Given the description of an element on the screen output the (x, y) to click on. 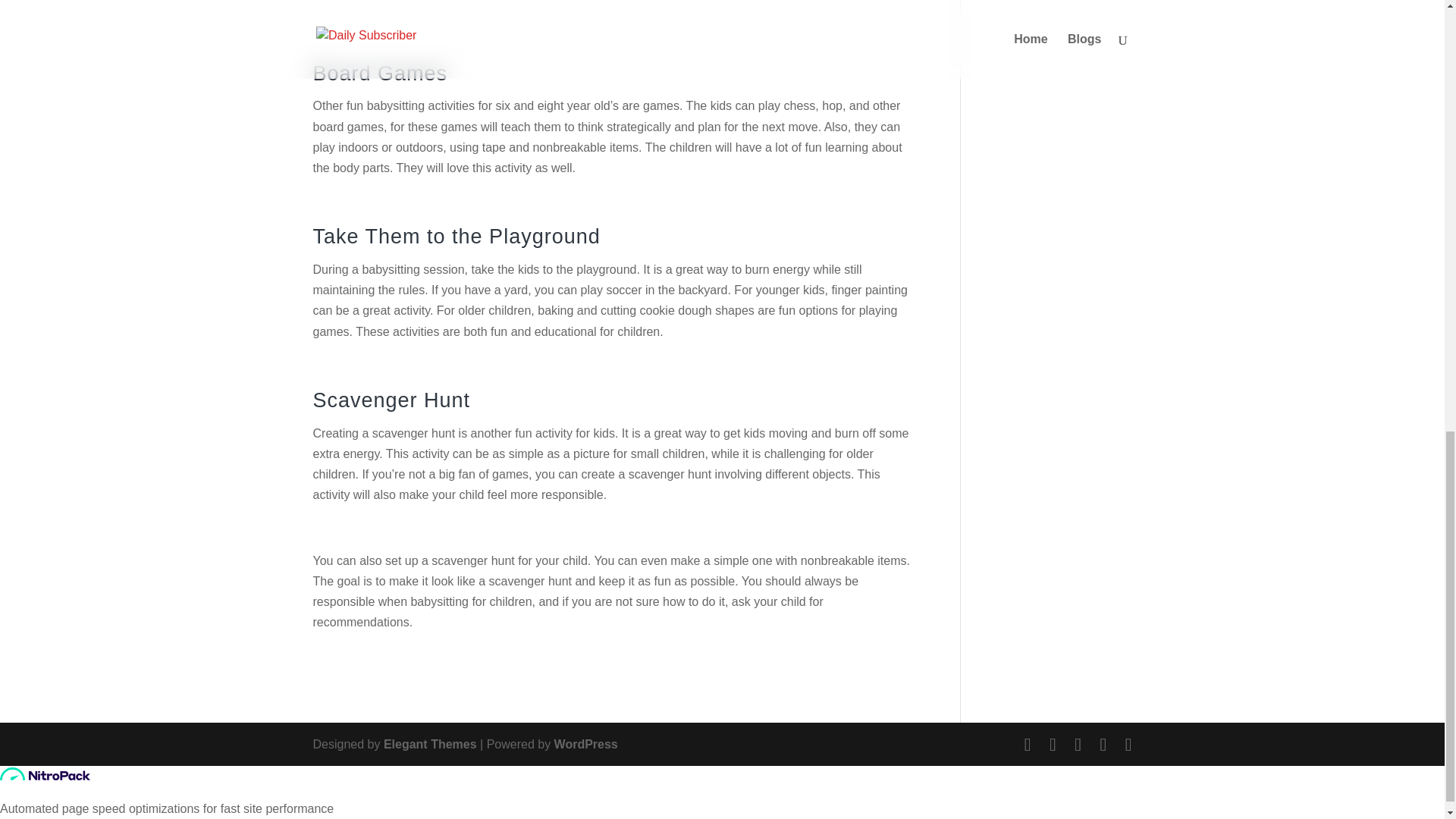
Elegant Themes (430, 744)
Premium WordPress Themes (430, 744)
WordPress (585, 744)
